Given the description of an element on the screen output the (x, y) to click on. 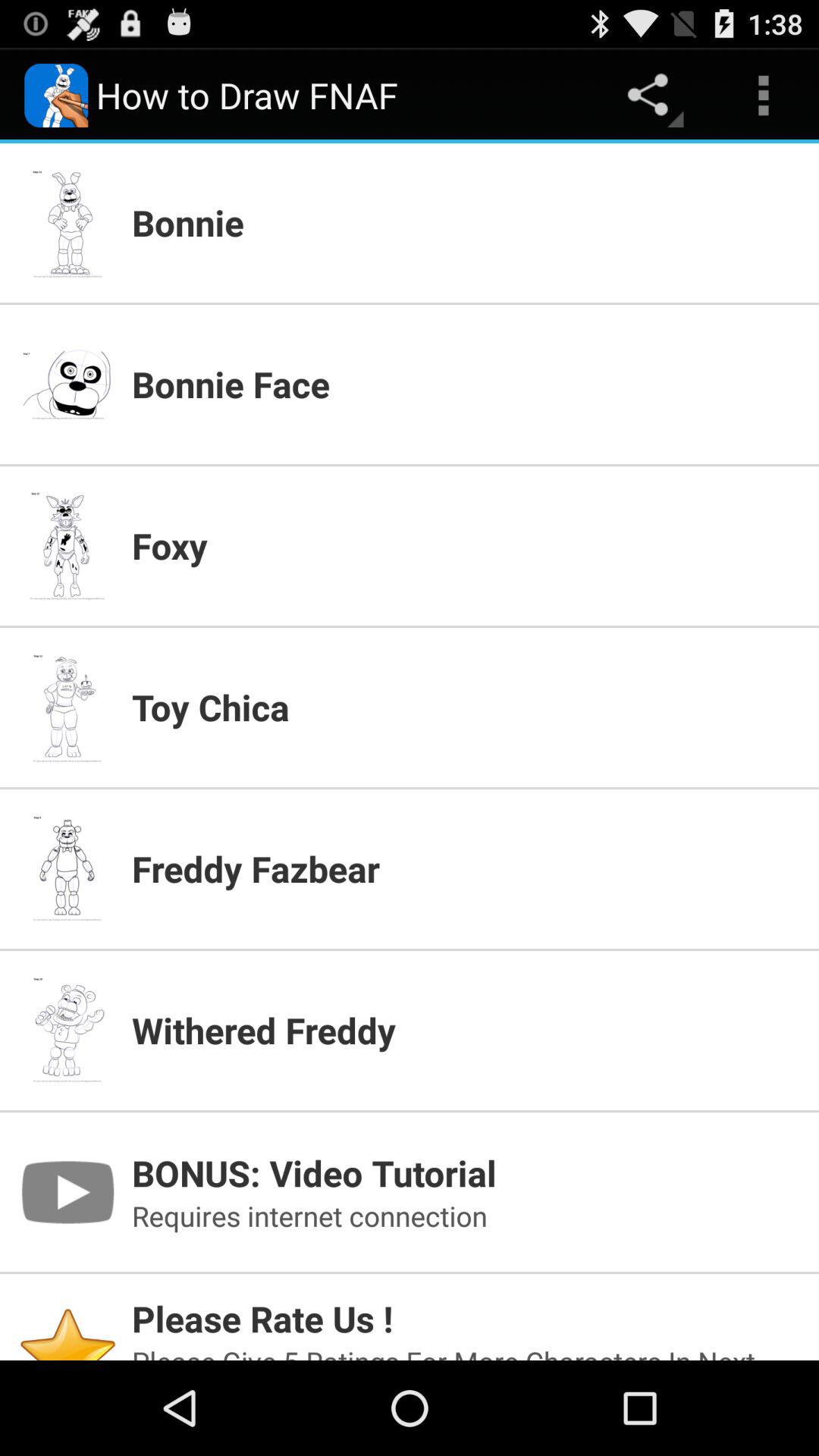
launch toy chica app (465, 707)
